Given the description of an element on the screen output the (x, y) to click on. 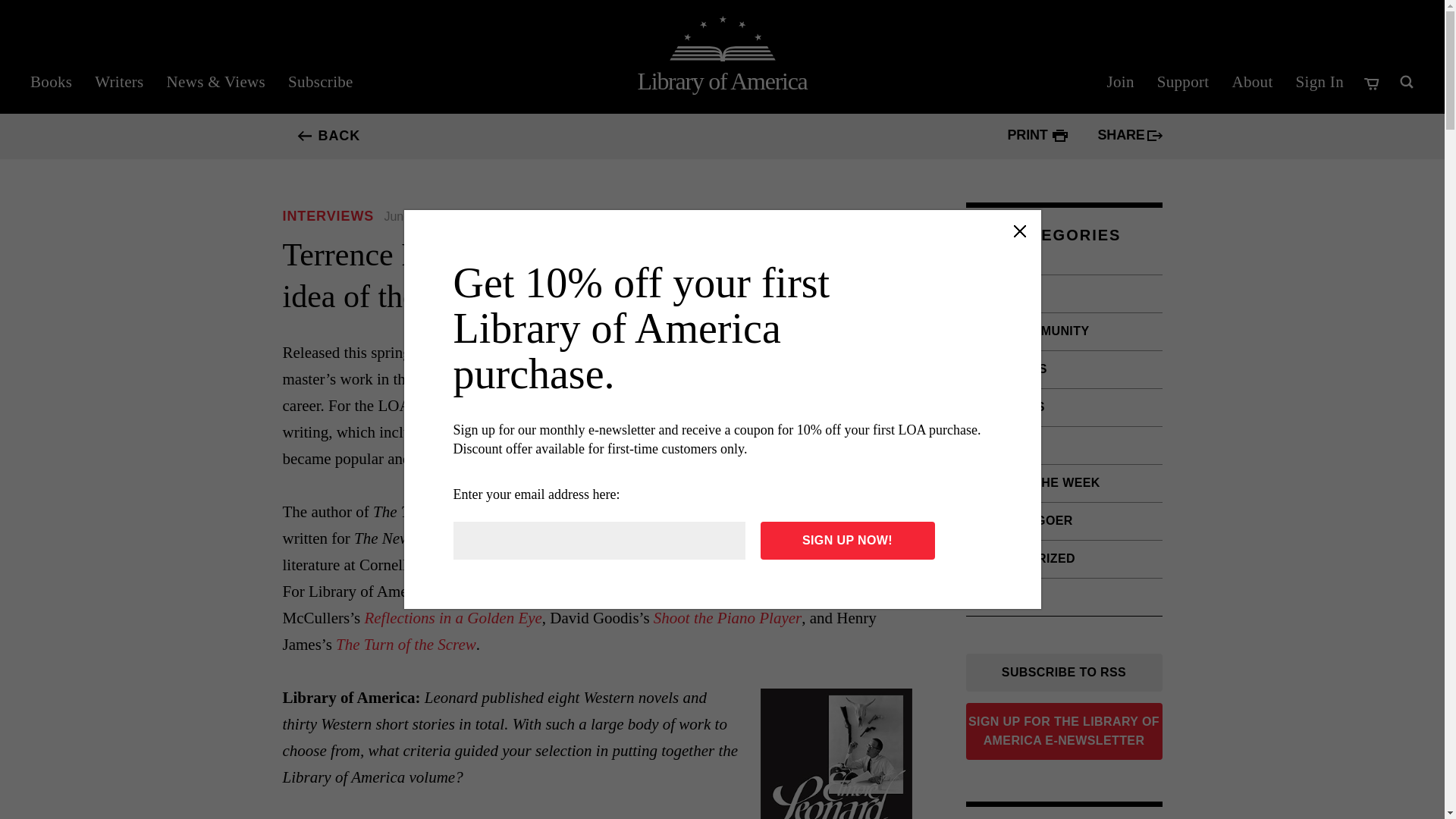
Print (1059, 135)
SIGN UP FOR THE LIBRARY OF AMERICA E-NEWSLETTER (1063, 731)
AUDIO (1063, 292)
BACK (305, 136)
Library of America (721, 80)
Shoot the Piano Player (727, 618)
Cart (1371, 83)
Home (721, 80)
About (1251, 82)
Back (305, 136)
